Given the description of an element on the screen output the (x, y) to click on. 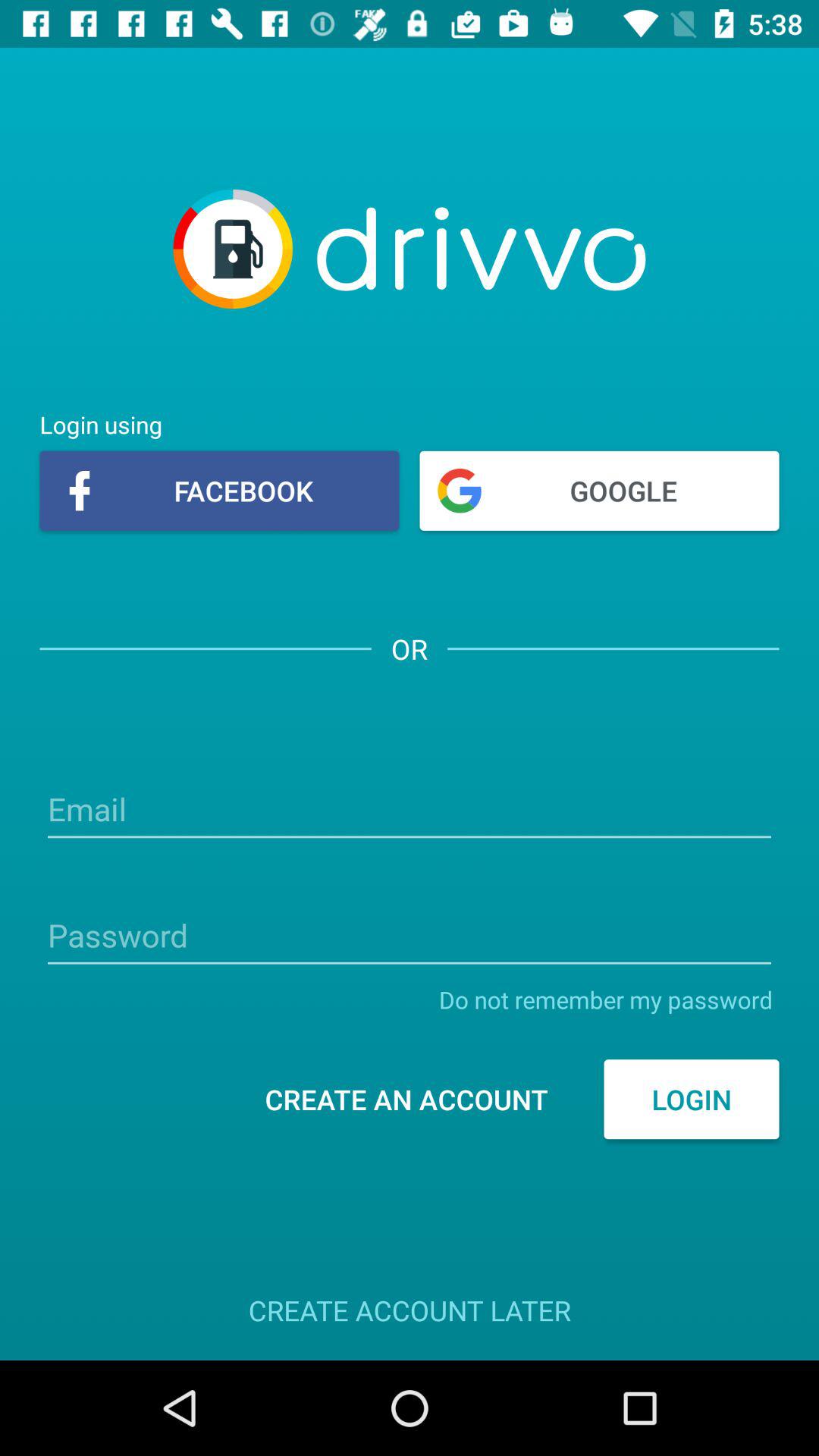
password input (409, 937)
